Given the description of an element on the screen output the (x, y) to click on. 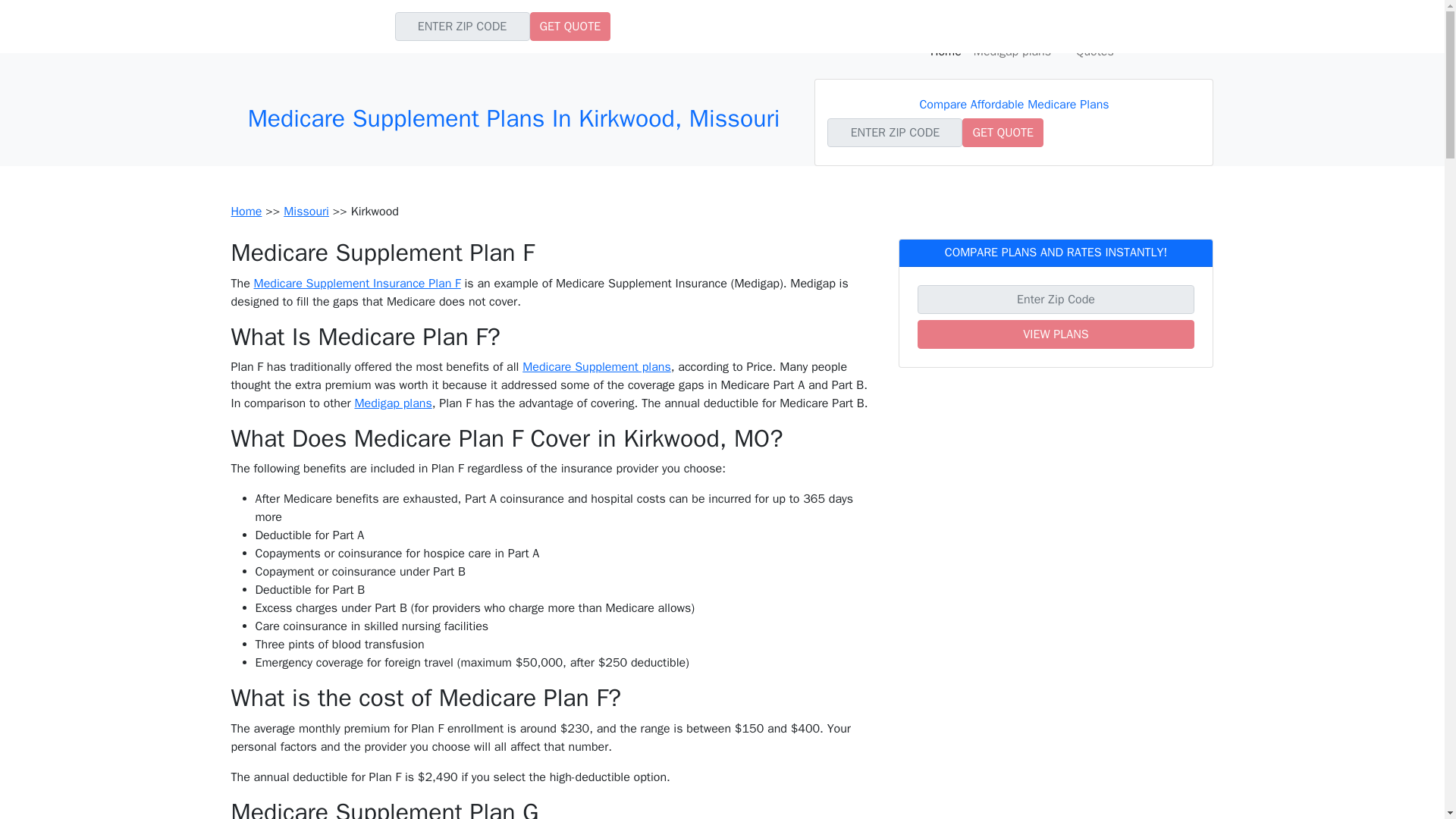
Missouri (306, 211)
Home (246, 211)
877-721-0641 (1161, 20)
GET QUOTE (1002, 132)
Medicare Supplement plans (596, 366)
Home (946, 51)
Quotes (1094, 51)
Medigap plans (391, 403)
Medigap plans (1019, 51)
Medicare Supplement Insurance Plan F (357, 283)
